Given the description of an element on the screen output the (x, y) to click on. 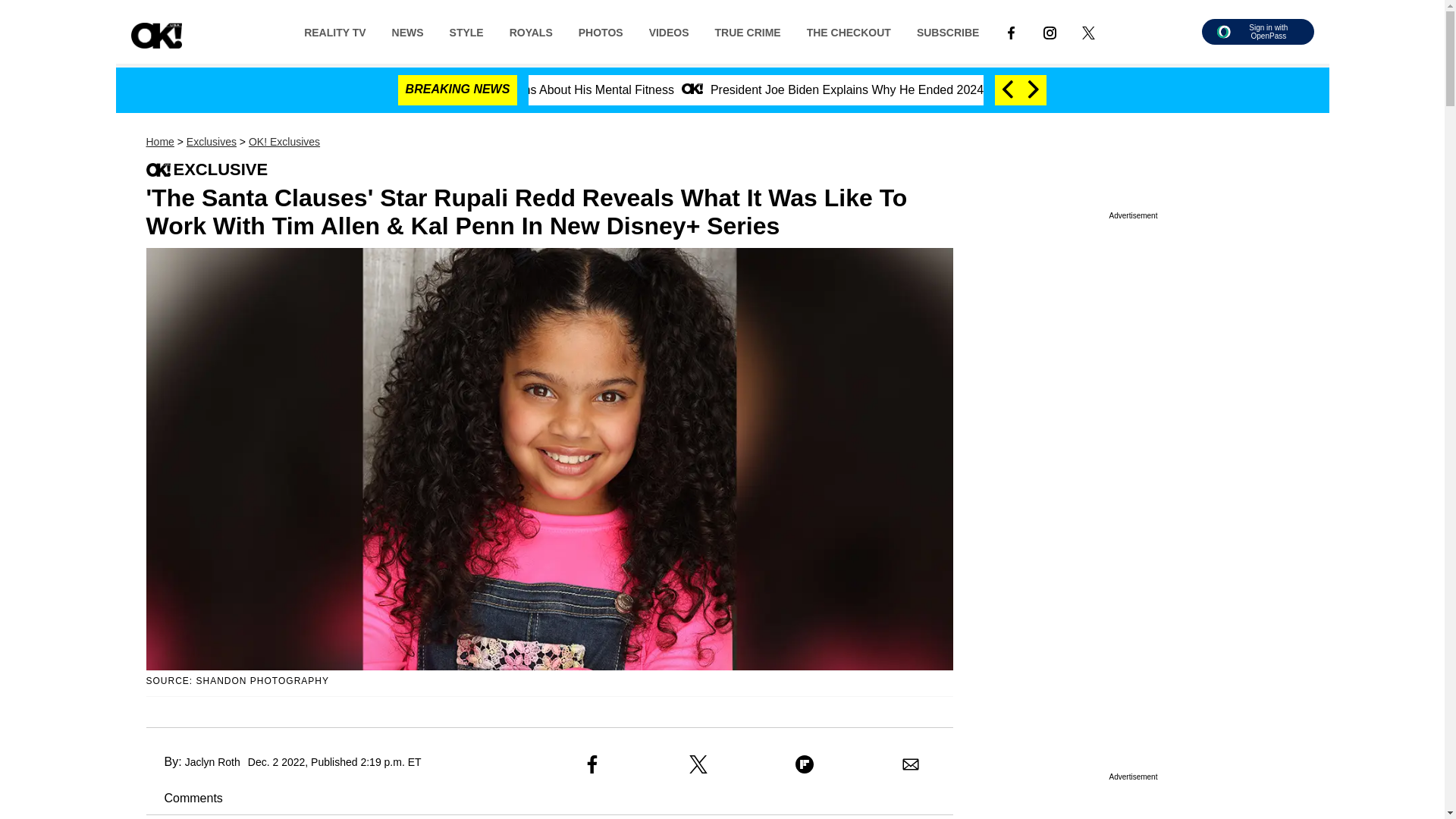
SUBSCRIBE (947, 31)
VIDEOS (668, 31)
LINK TO X (1088, 31)
Link to Facebook (1010, 31)
NEWS (407, 31)
THE CHECKOUT (848, 31)
Link to X (1088, 31)
OK! Exclusives (284, 141)
LINK TO FACEBOOK (1010, 31)
Sign in with OpenPass (1257, 31)
Share to X (697, 764)
Link to Instagram (1049, 31)
LINK TO FACEBOOK (1010, 32)
